Given the description of an element on the screen output the (x, y) to click on. 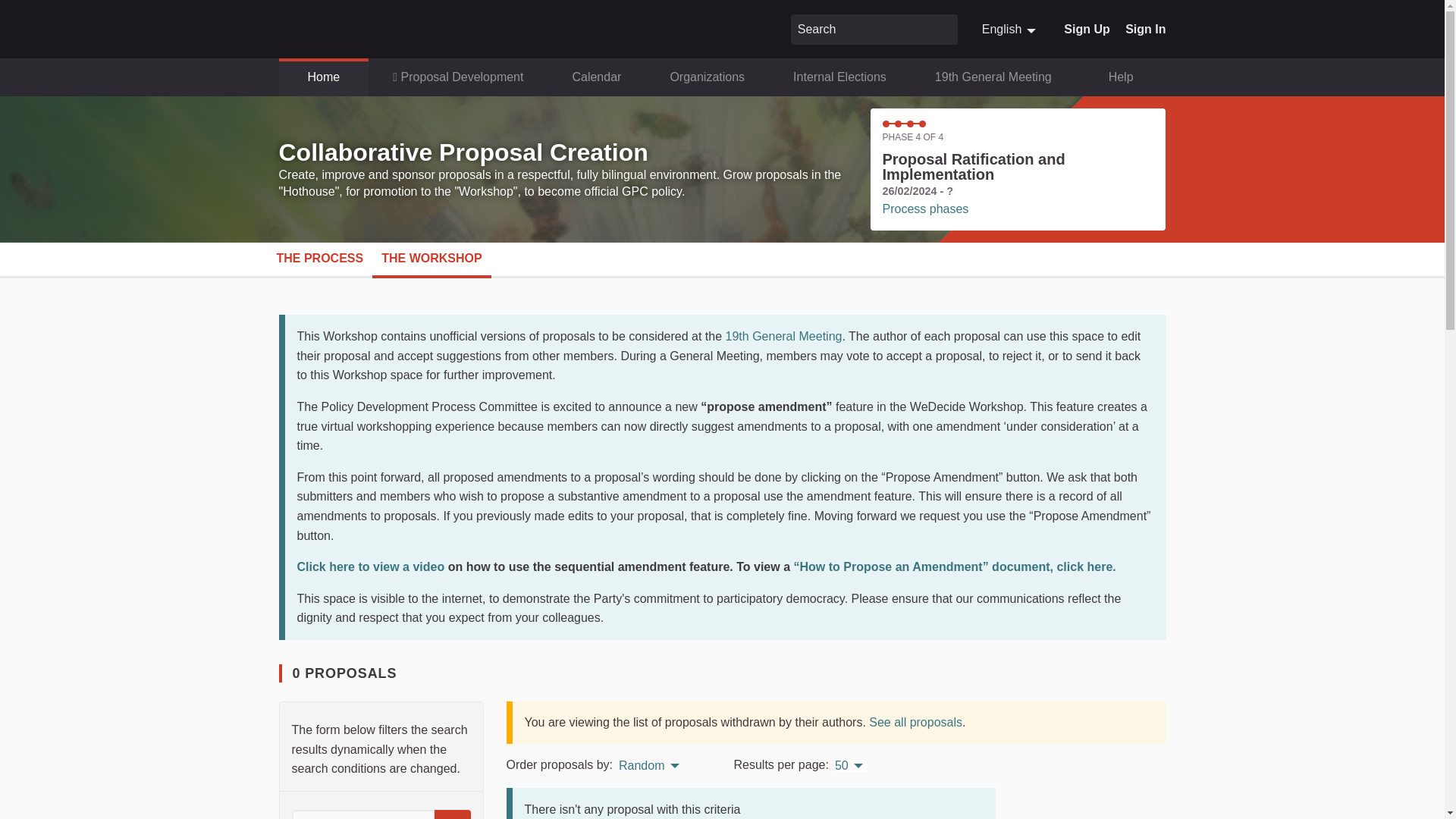
Organizations (706, 77)
Select number of results per page (850, 766)
Search (944, 28)
Search (944, 28)
Sign In (1145, 29)
Click here to view a video  (372, 566)
Calendar (596, 77)
THE WORKSHOP (431, 258)
Search (1010, 28)
